Given the description of an element on the screen output the (x, y) to click on. 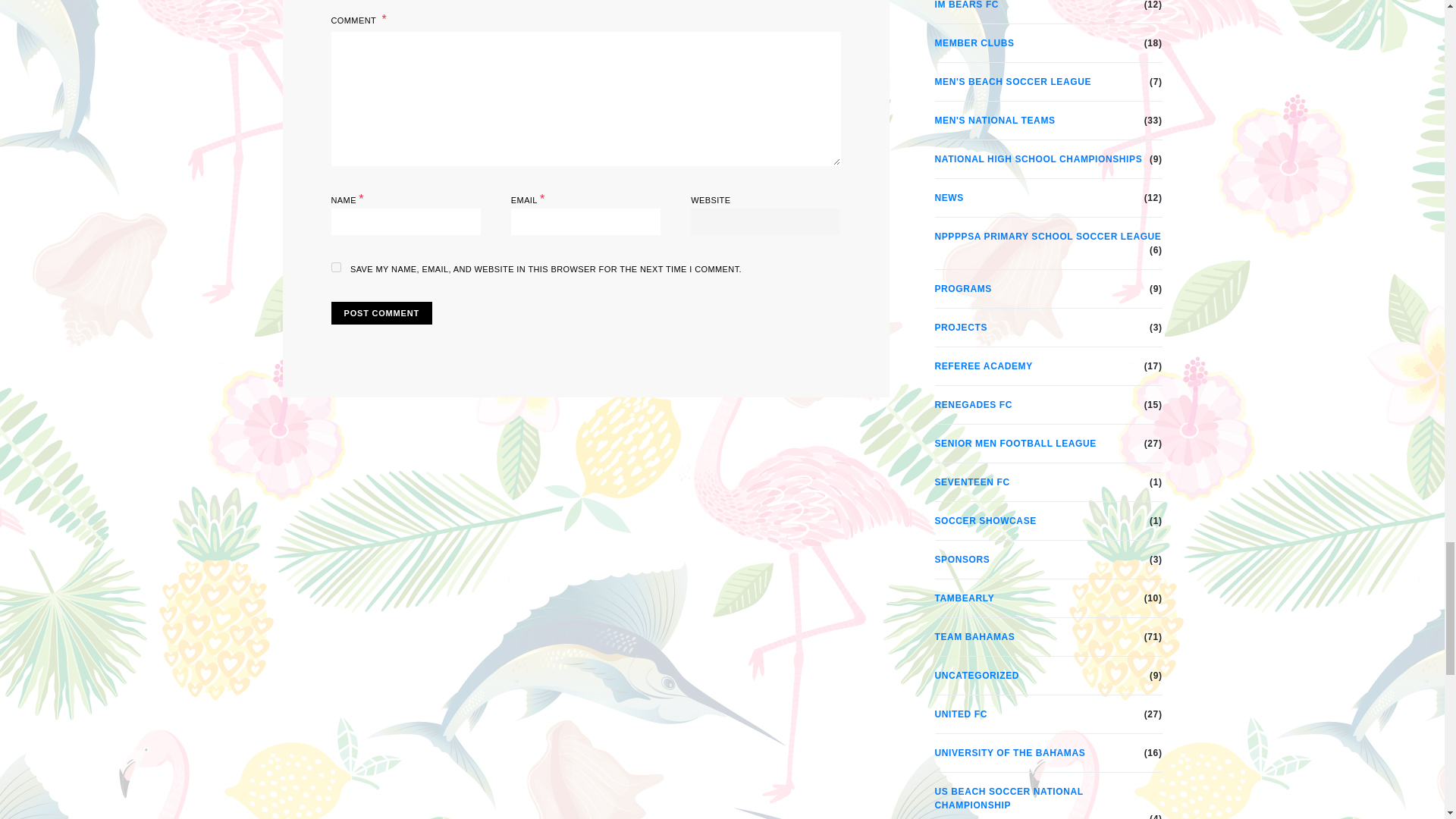
yes (335, 266)
Post Comment (380, 313)
